Given the description of an element on the screen output the (x, y) to click on. 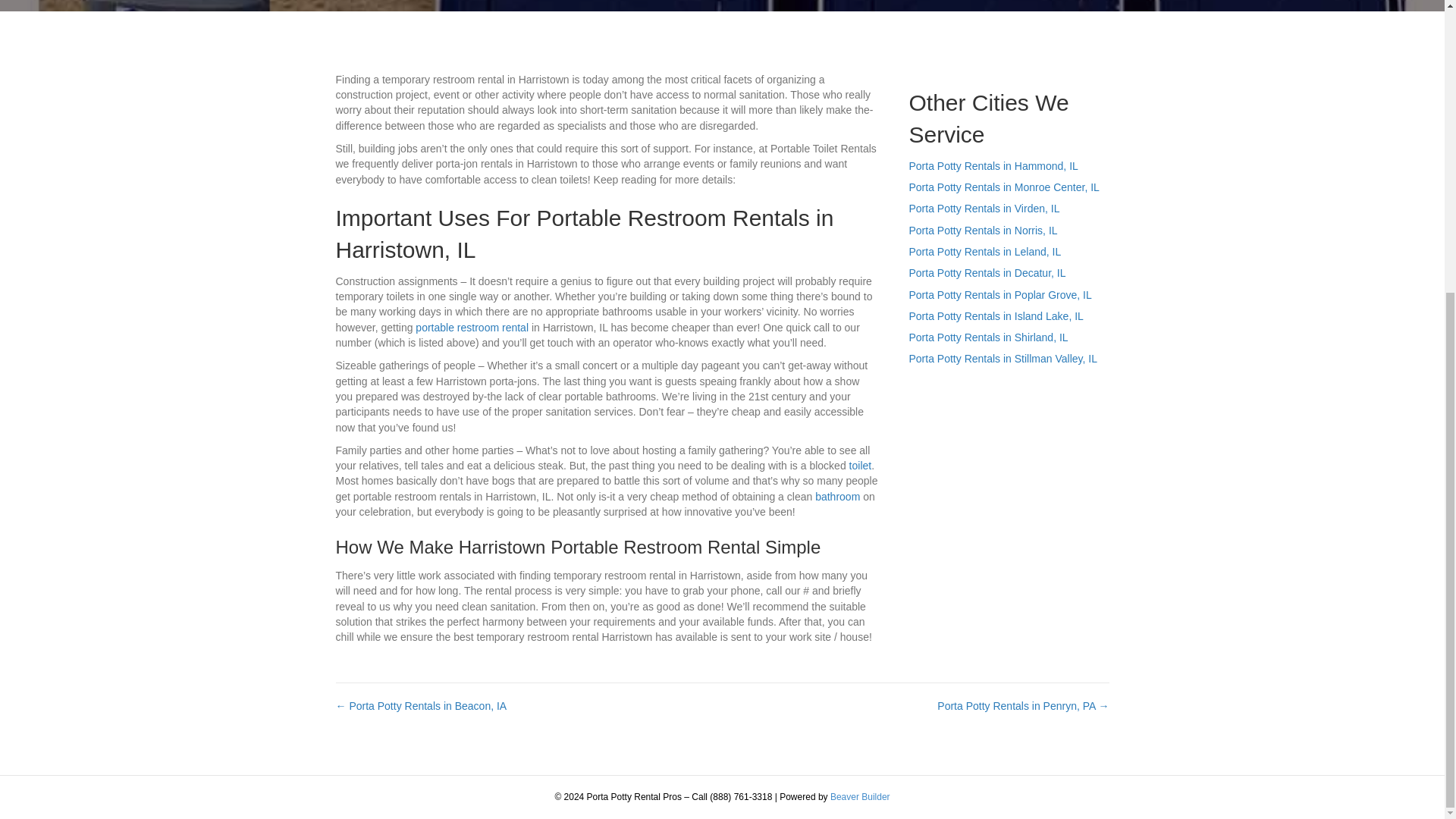
Porta Potty Rentals in Leland, IL (984, 251)
Porta Potty Rentals in Monroe Center, IL (1003, 186)
Porta Potty Rentals in Leland, IL (984, 251)
portable restroom rental (471, 327)
Porta Potty Rentals in Decatur, IL (986, 272)
Porta Potty Rentals in Island Lake, IL (995, 316)
WordPress Page Builder Plugin (859, 796)
Porta Potty Rentals in Norris, IL (982, 230)
Porta Potty Rentals in Stillman Valley, IL (1002, 358)
Porta Potty Rentals in Poplar Grove, IL (999, 295)
Porta Potty Rentals in Hammond, IL (992, 165)
bathroom (837, 496)
Porta Potty Rentals in Shirland, IL (987, 337)
Porta Potty Rentals in Decatur, IL (986, 272)
Porta Potty Rentals in Shirland, IL (987, 337)
